Given the description of an element on the screen output the (x, y) to click on. 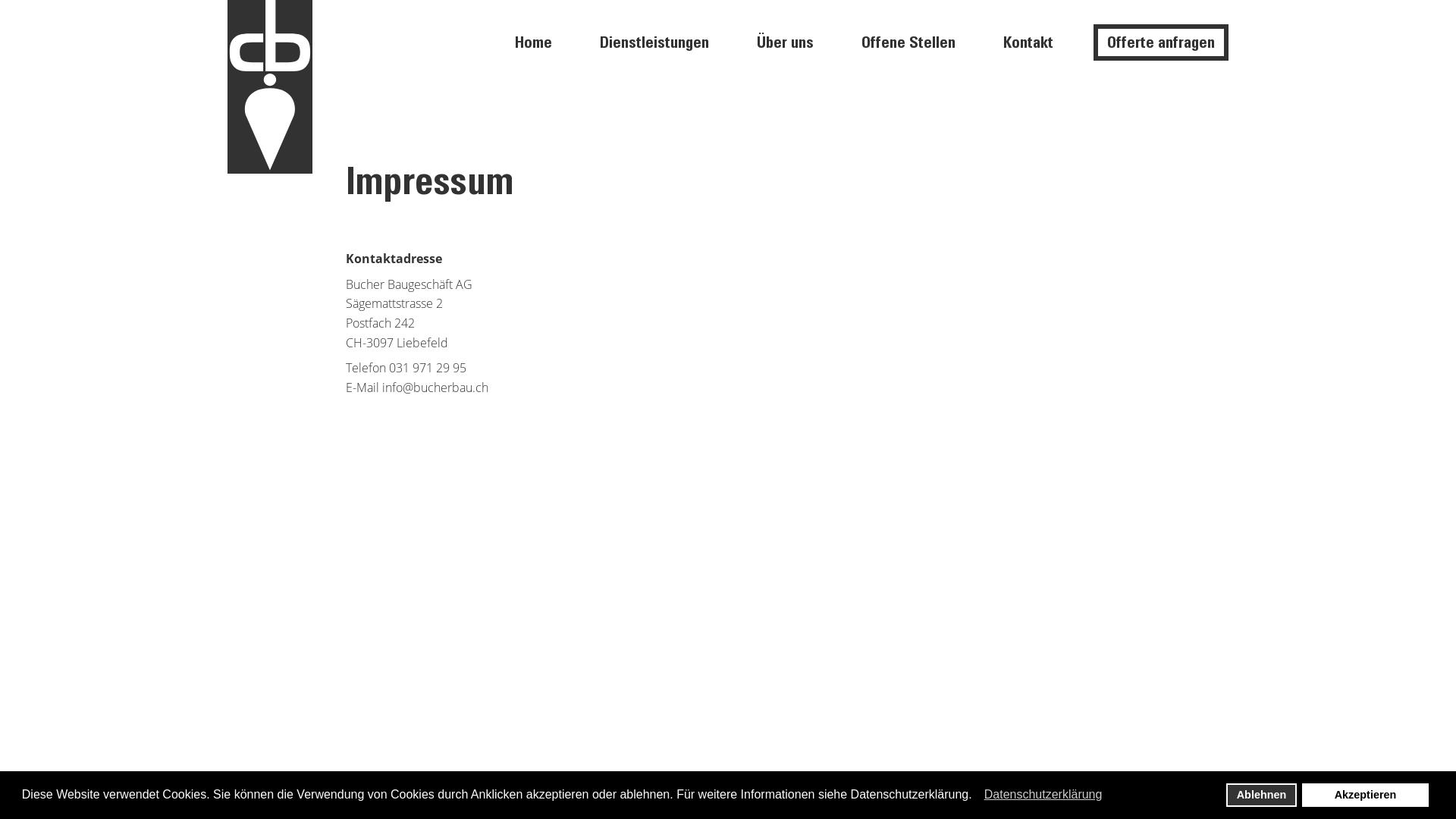
031 971 29 95 Element type: text (427, 367)
Offene Stellen Element type: text (908, 42)
Dienstleistungen Element type: text (654, 42)
Akzeptieren Element type: text (1365, 794)
Home Element type: text (533, 42)
Kontakt Element type: text (1027, 42)
Impressum Element type: text (1043, 797)
Artd Element type: text (422, 796)
Offerte anfragen Element type: text (1160, 42)
Disclaimer Element type: text (1098, 797)
Ablehnen Element type: text (1261, 794)
info@bucherbau.ch Element type: text (435, 387)
Webdesign Bern Element type: text (467, 796)
